Given the description of an element on the screen output the (x, y) to click on. 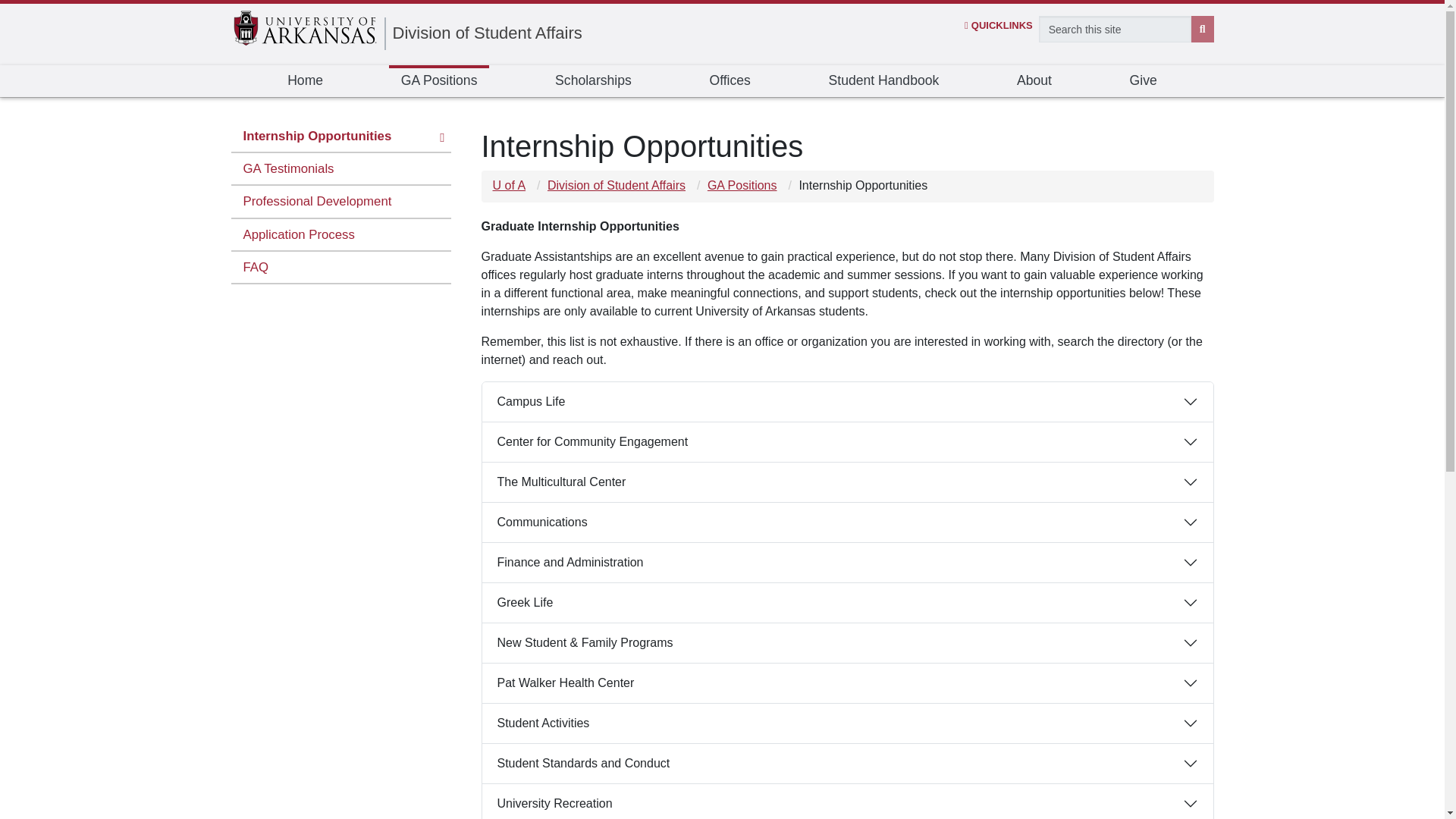
Division of Student Affairs (487, 32)
Scholarships (593, 81)
Student Handbook (884, 81)
SEARCH (1202, 28)
Internship Opportunities (339, 136)
QUICKLINKS (997, 25)
Offices (729, 81)
About (1034, 81)
GA Positions (438, 81)
Home (304, 81)
Give (1143, 81)
GA Testimonials (339, 169)
